Given the description of an element on the screen output the (x, y) to click on. 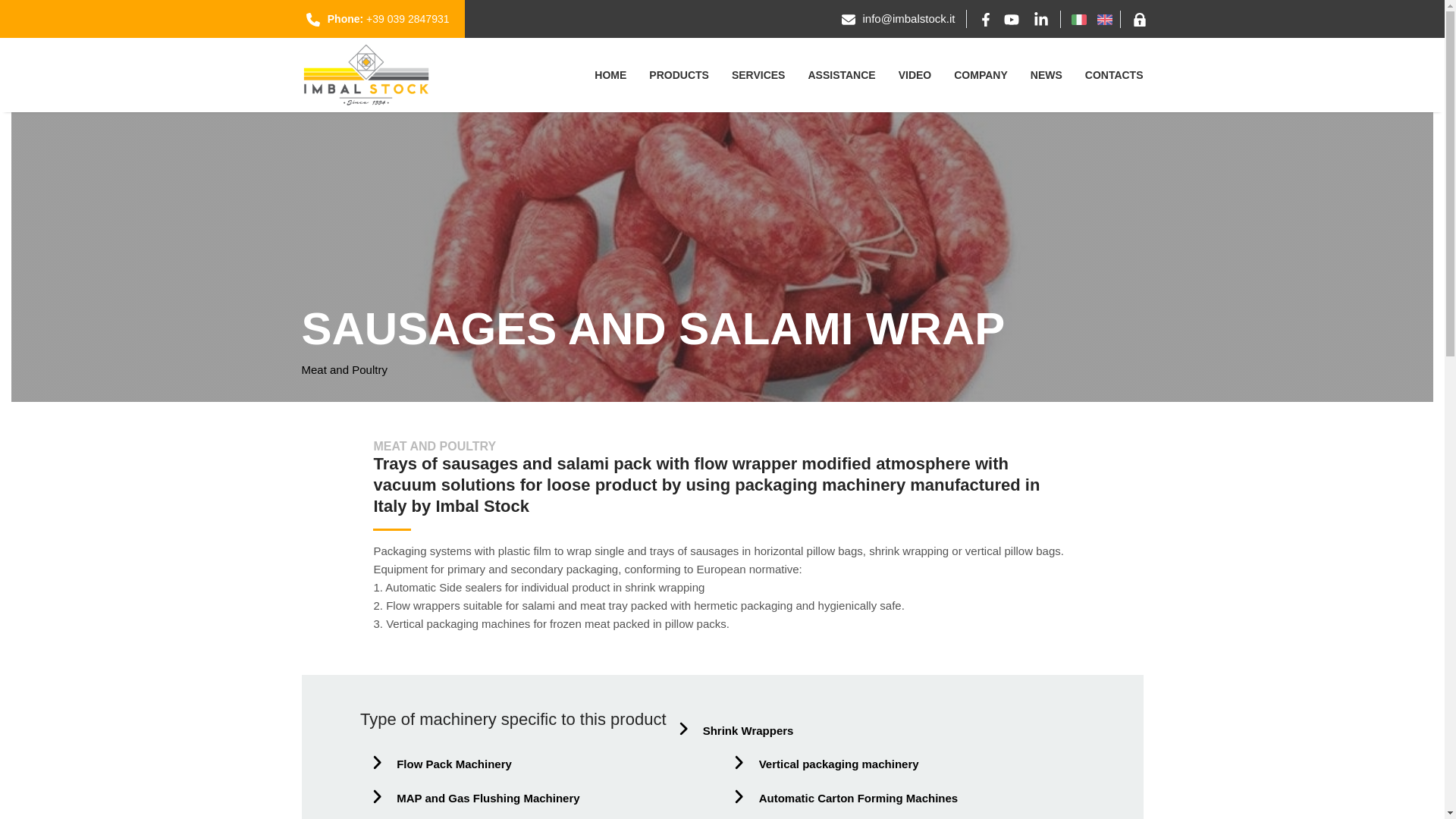
Home (610, 75)
ita (1078, 18)
Imbal Stock - Linkedin (1040, 18)
HOME (610, 75)
mail (909, 18)
Imbal Stock - Facebook (985, 18)
eng (1104, 18)
PRODUCTS (678, 75)
area riservata Imbal Stock (1139, 18)
Imbal Stock - Youtube (1011, 18)
